Given the description of an element on the screen output the (x, y) to click on. 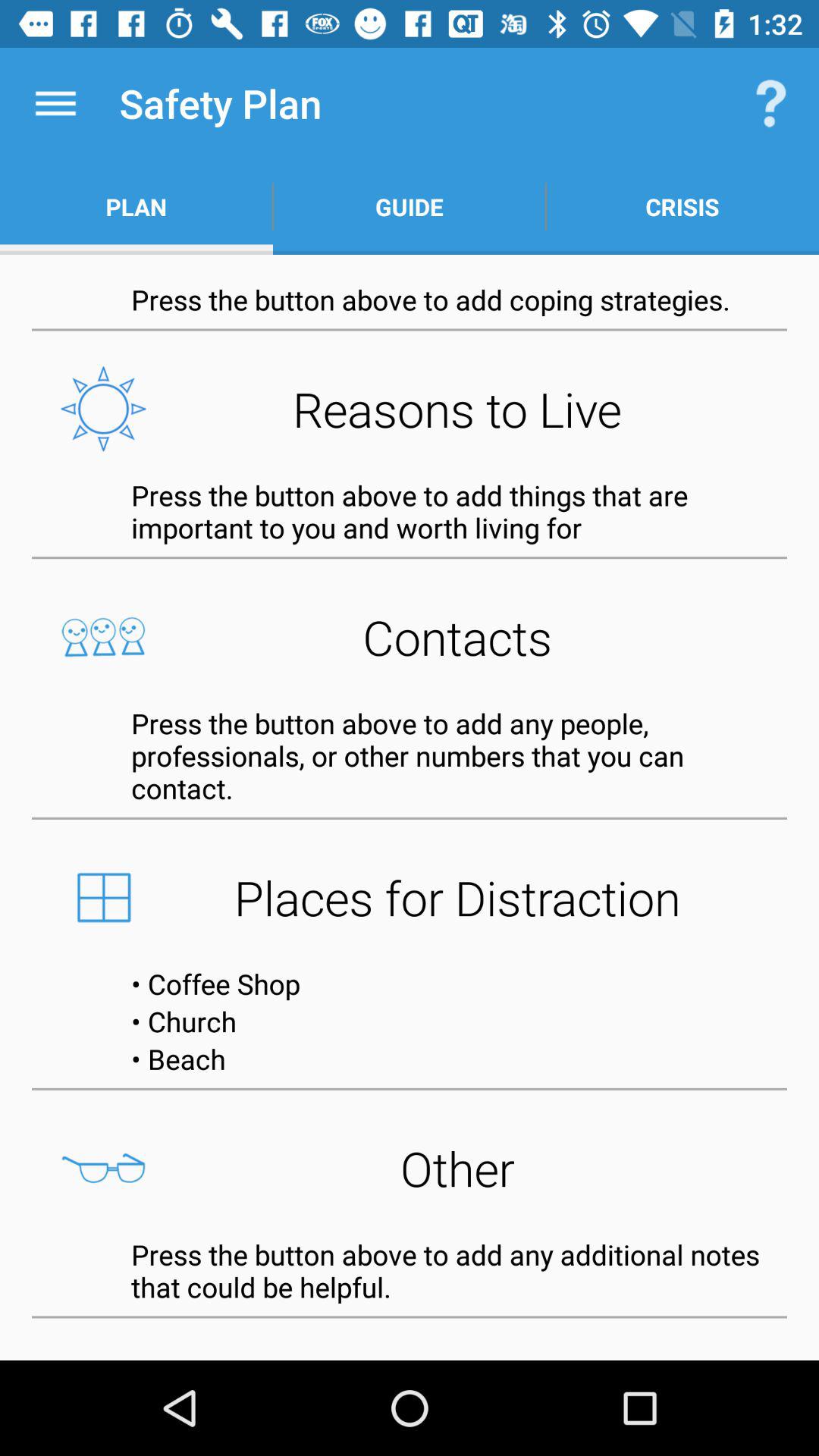
click the app above the press the button icon (409, 408)
